Given the description of an element on the screen output the (x, y) to click on. 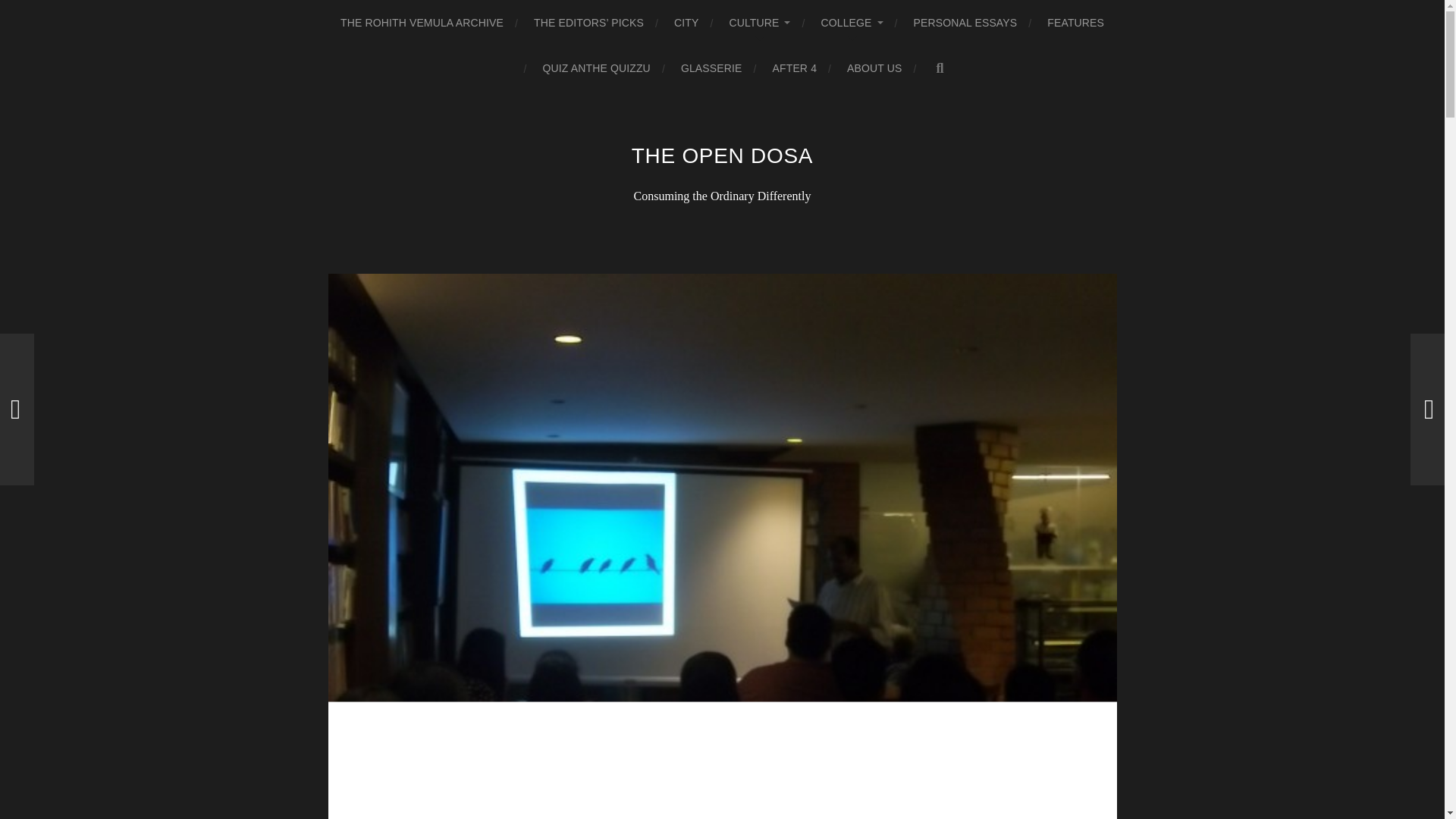
FEATURES (1074, 22)
THE ROHITH VEMULA ARCHIVE (421, 22)
AFTER 4 (794, 67)
CULTURE (759, 22)
GLASSERIE (711, 67)
THE OPEN DOSA (721, 155)
QUIZ ANTHE QUIZZU (595, 67)
COLLEGE (851, 22)
PERSONAL ESSAYS (965, 22)
ABOUT US (874, 67)
